Given the description of an element on the screen output the (x, y) to click on. 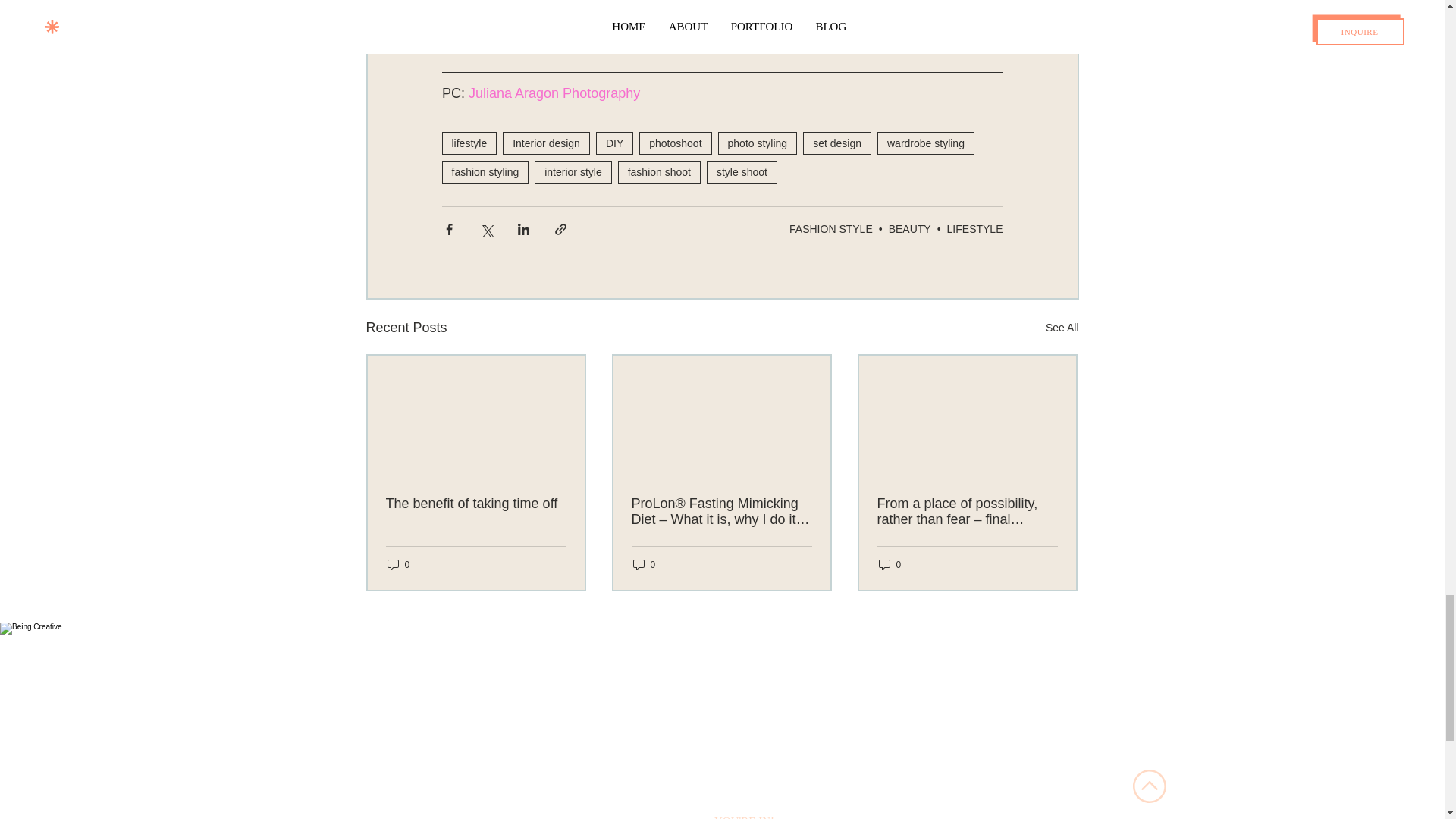
lifestyle (468, 142)
fashion shoot (658, 171)
Interior design (545, 142)
style shoot (741, 171)
See All (1061, 327)
fashion styling (484, 171)
photo styling (757, 142)
BEAUTY (909, 228)
wardrobe styling (925, 142)
FASHION STYLE (830, 228)
